Given the description of an element on the screen output the (x, y) to click on. 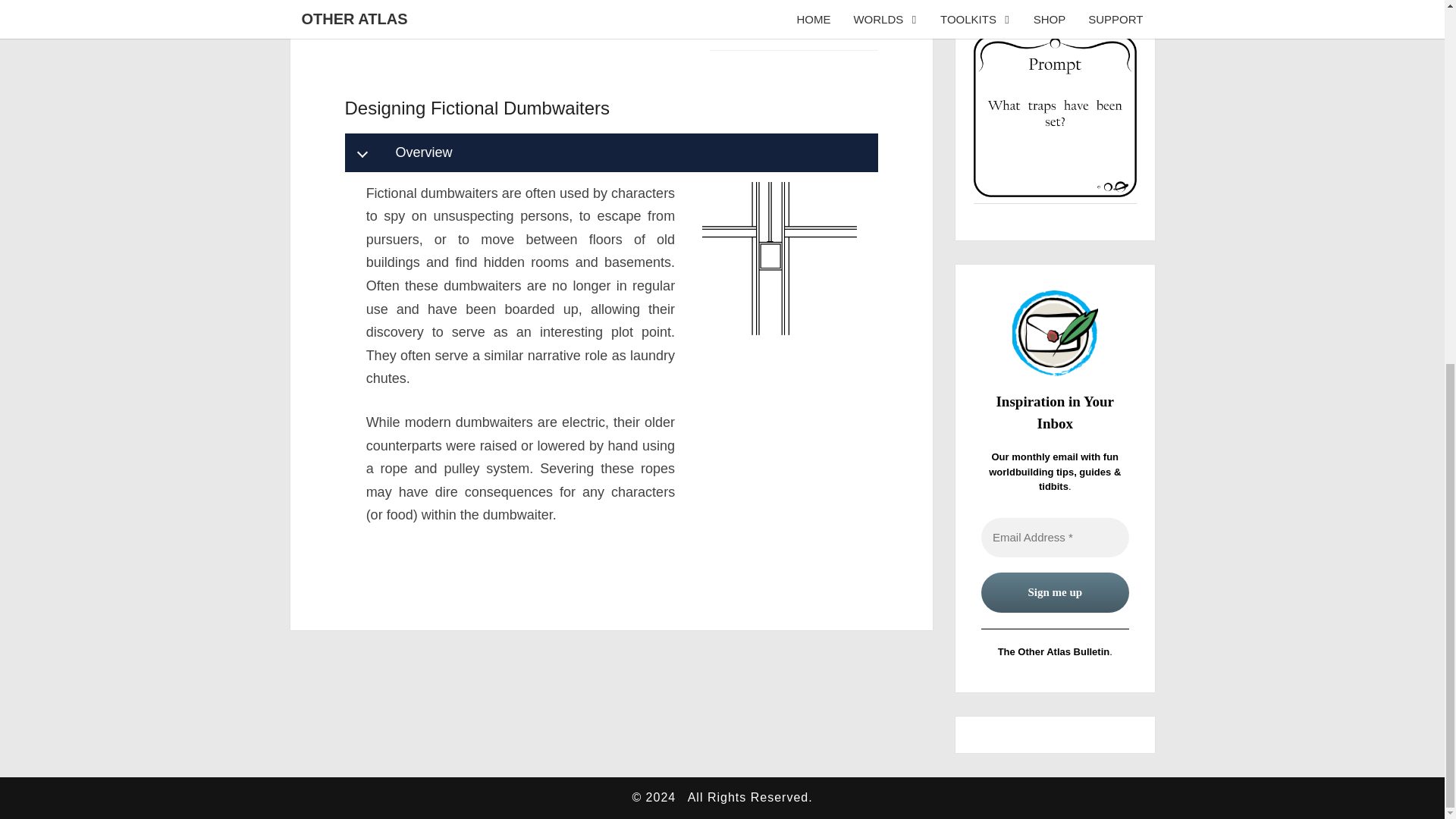
Wigit Tip 139-01 (1055, 116)
Sign me up (1055, 592)
hidden rooms (486, 21)
Sign me up (1055, 592)
Factions (745, 15)
